Given the description of an element on the screen output the (x, y) to click on. 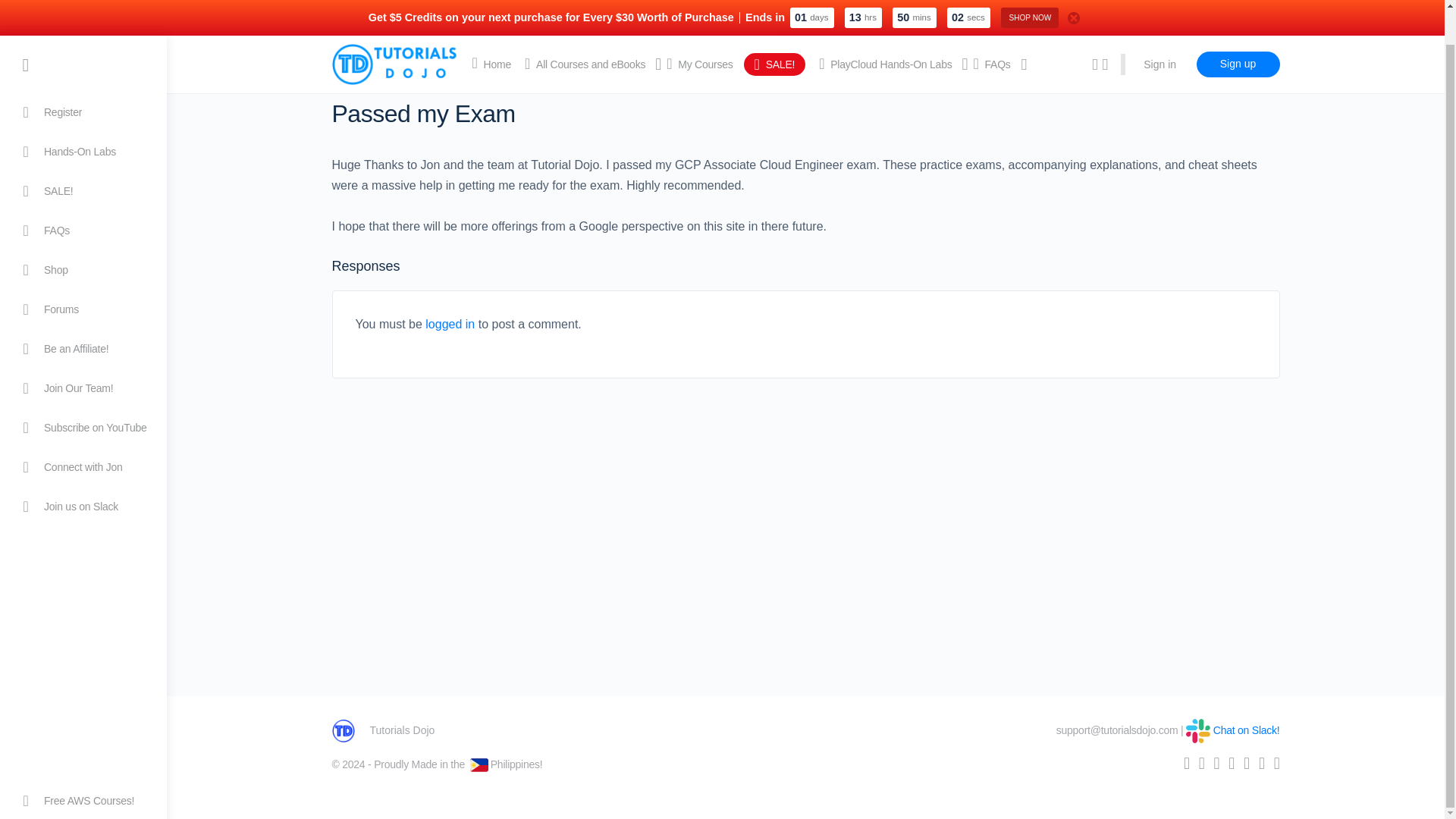
Connect with Jon (83, 431)
Free AWS Courses! (83, 764)
Subscribe on YouTube (83, 392)
Hands-On Labs (83, 116)
FAQs (83, 194)
Forums (83, 273)
Join us on Slack (83, 470)
Be an Affiliate! (83, 313)
All Courses and eBooks (584, 28)
Join Our Team! (83, 352)
Shop (83, 234)
SALE! (83, 155)
Register (83, 76)
